Given the description of an element on the screen output the (x, y) to click on. 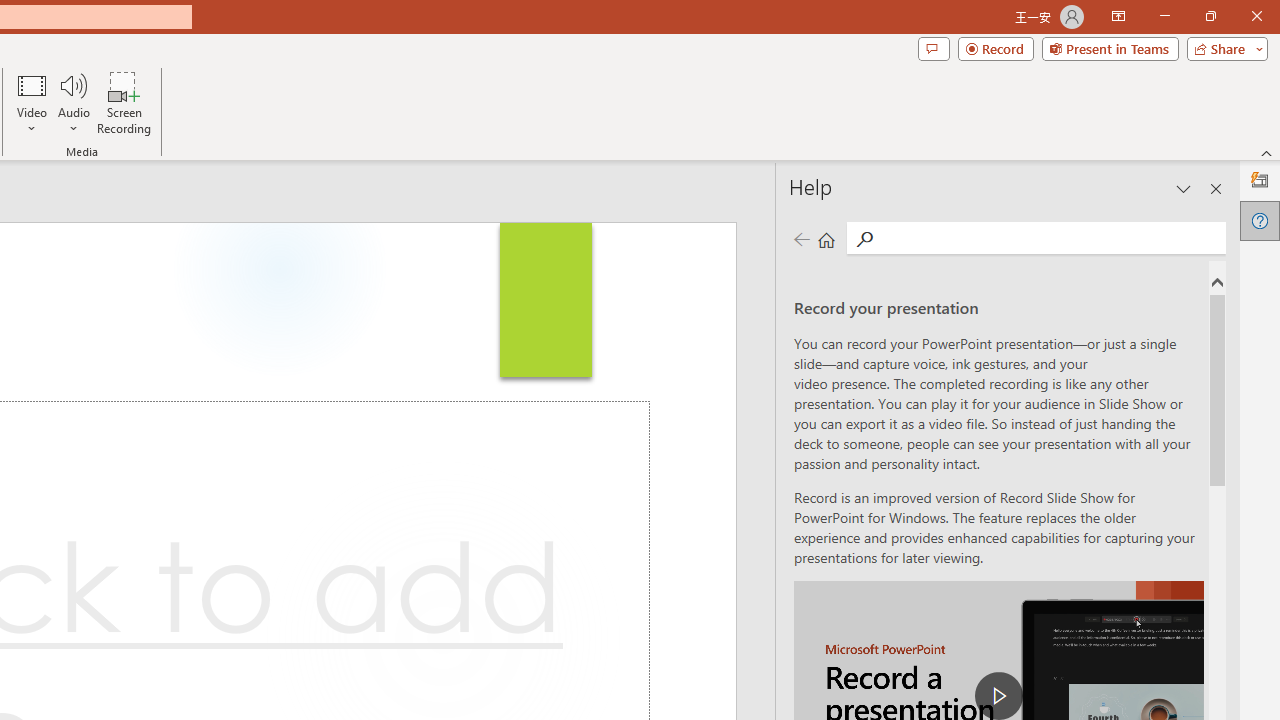
Audio (73, 102)
play Record a Presentation (998, 695)
